Given the description of an element on the screen output the (x, y) to click on. 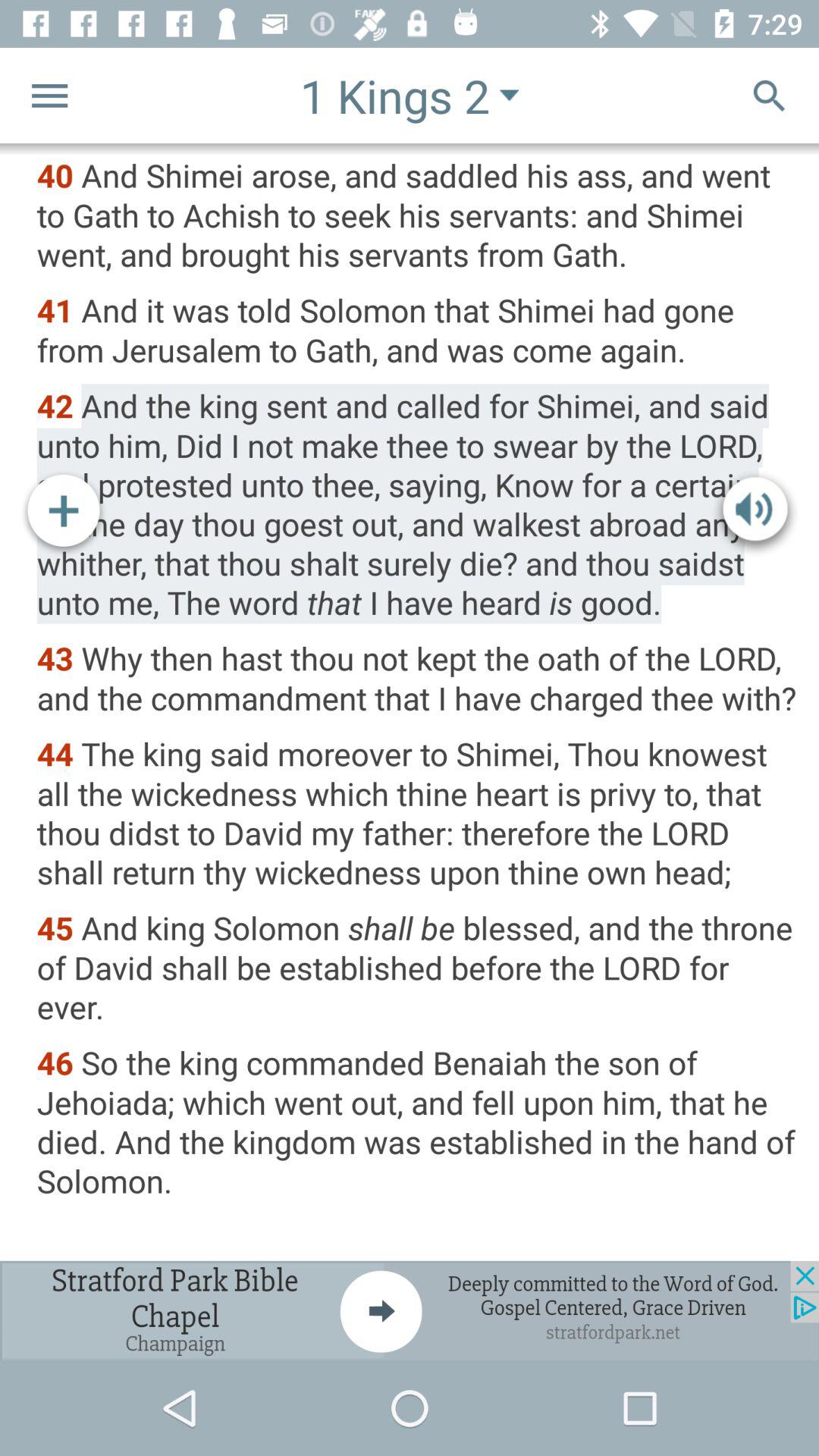
search (769, 95)
